Given the description of an element on the screen output the (x, y) to click on. 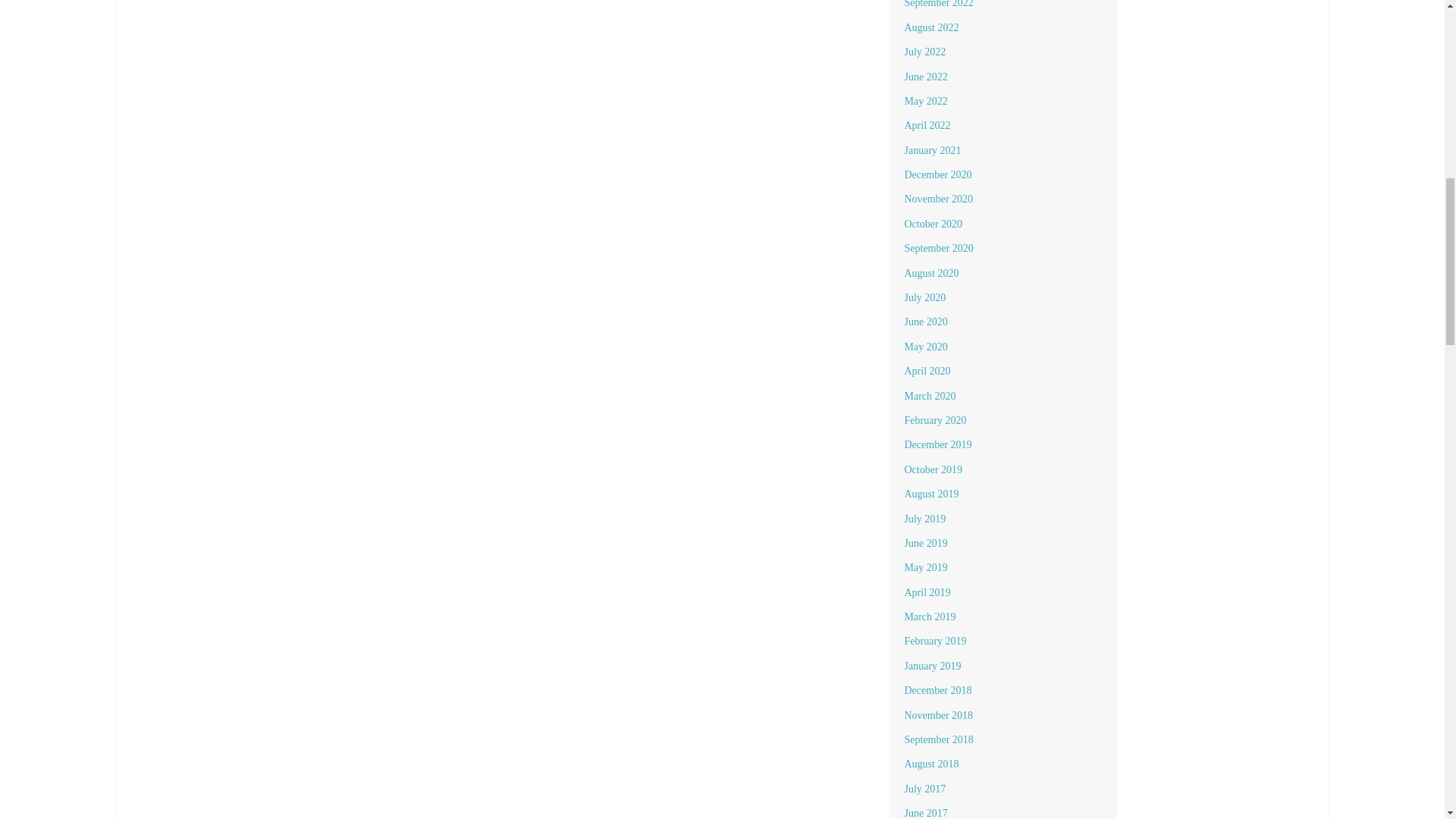
December 2020 (937, 174)
July 2022 (924, 51)
June 2022 (925, 76)
September 2022 (938, 4)
January 2021 (932, 150)
April 2022 (927, 125)
May 2022 (925, 101)
August 2022 (931, 27)
November 2020 (938, 198)
